Given the description of an element on the screen output the (x, y) to click on. 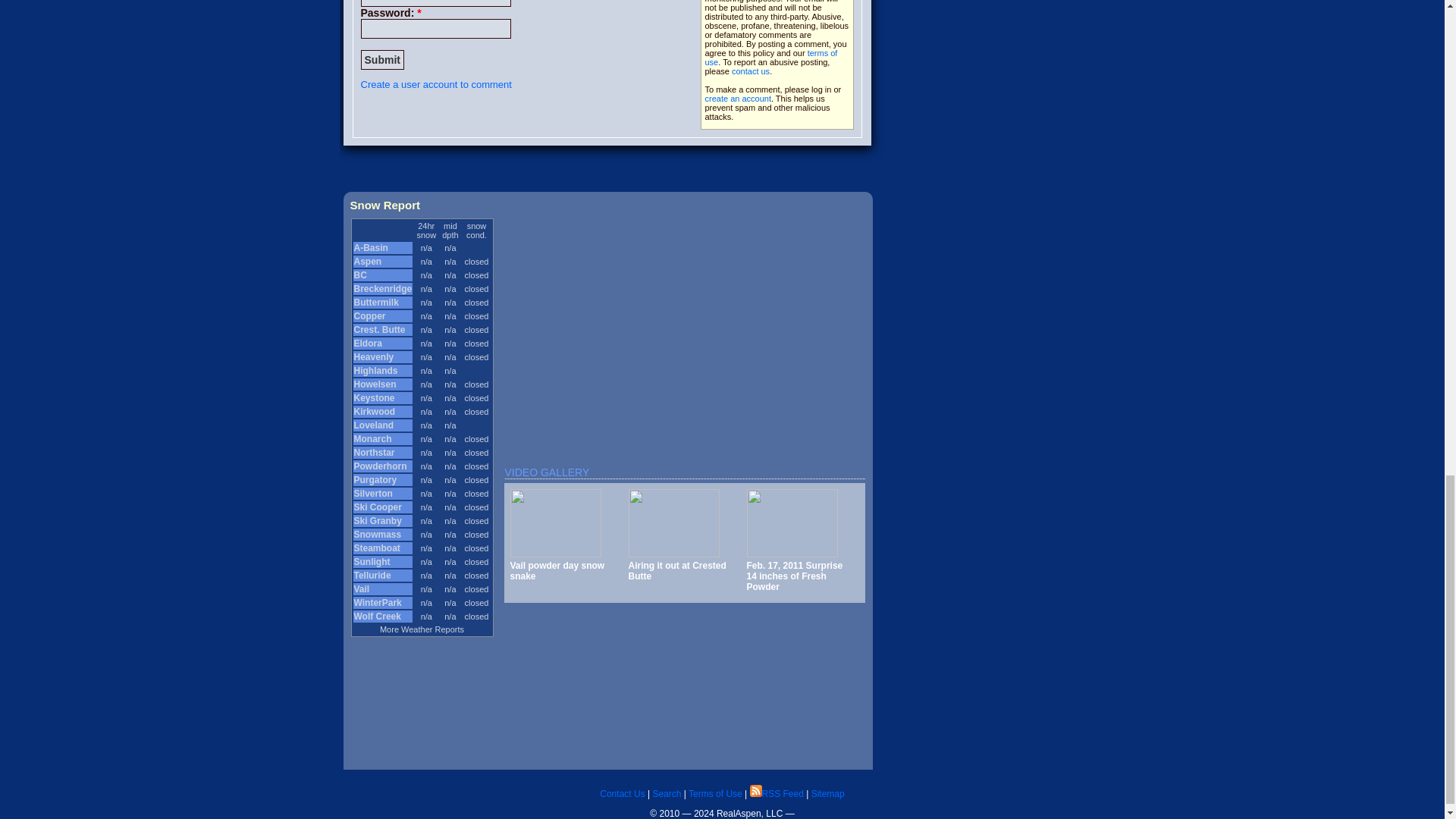
contact us (751, 71)
create an account (737, 98)
terms of use (771, 57)
Create a user account to comment (436, 84)
Click here to join and comment (436, 84)
Submit (382, 59)
create account to comment (737, 98)
Submit (382, 59)
